Given the description of an element on the screen output the (x, y) to click on. 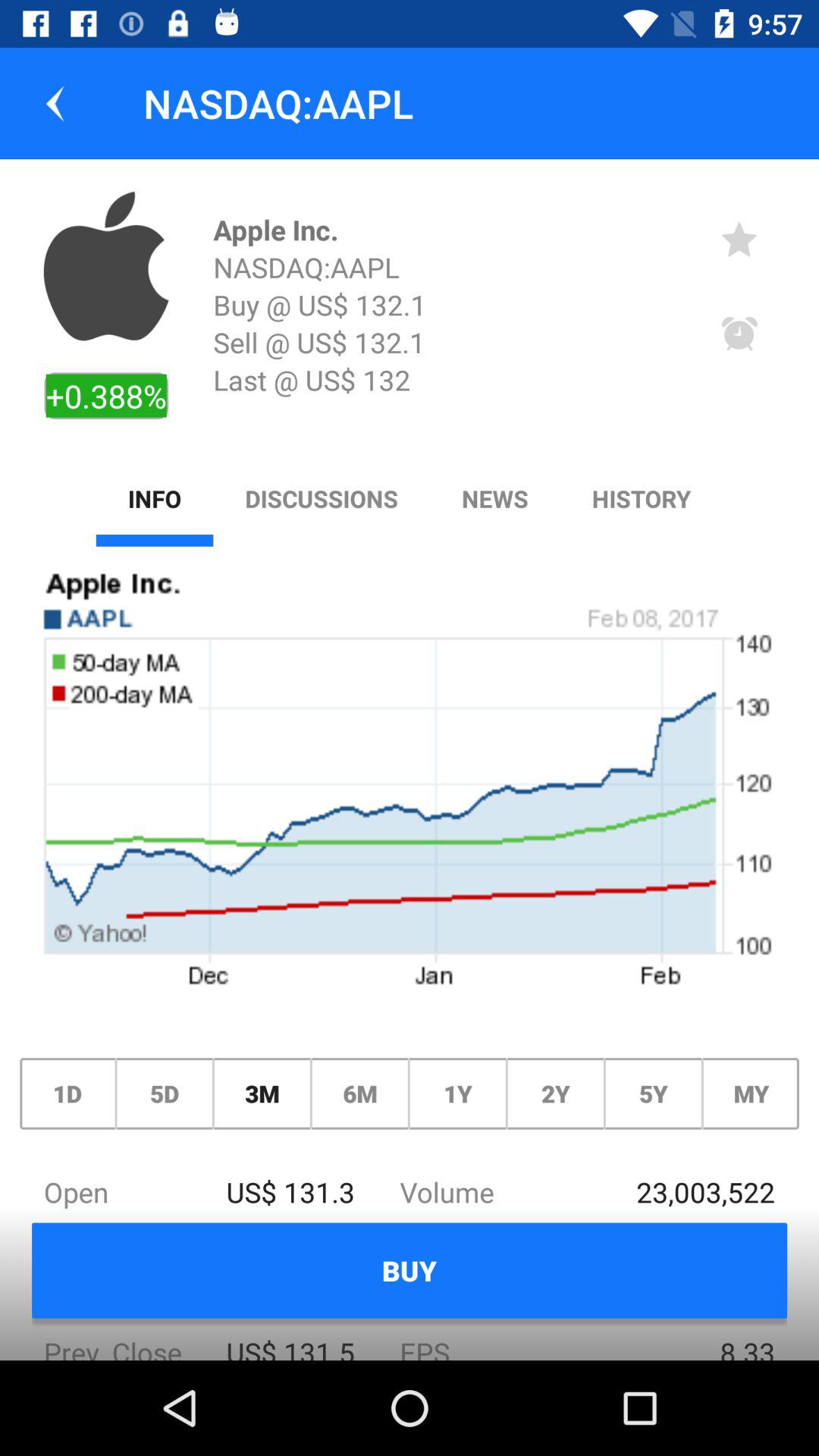
flip to 1y item (457, 1093)
